Given the description of an element on the screen output the (x, y) to click on. 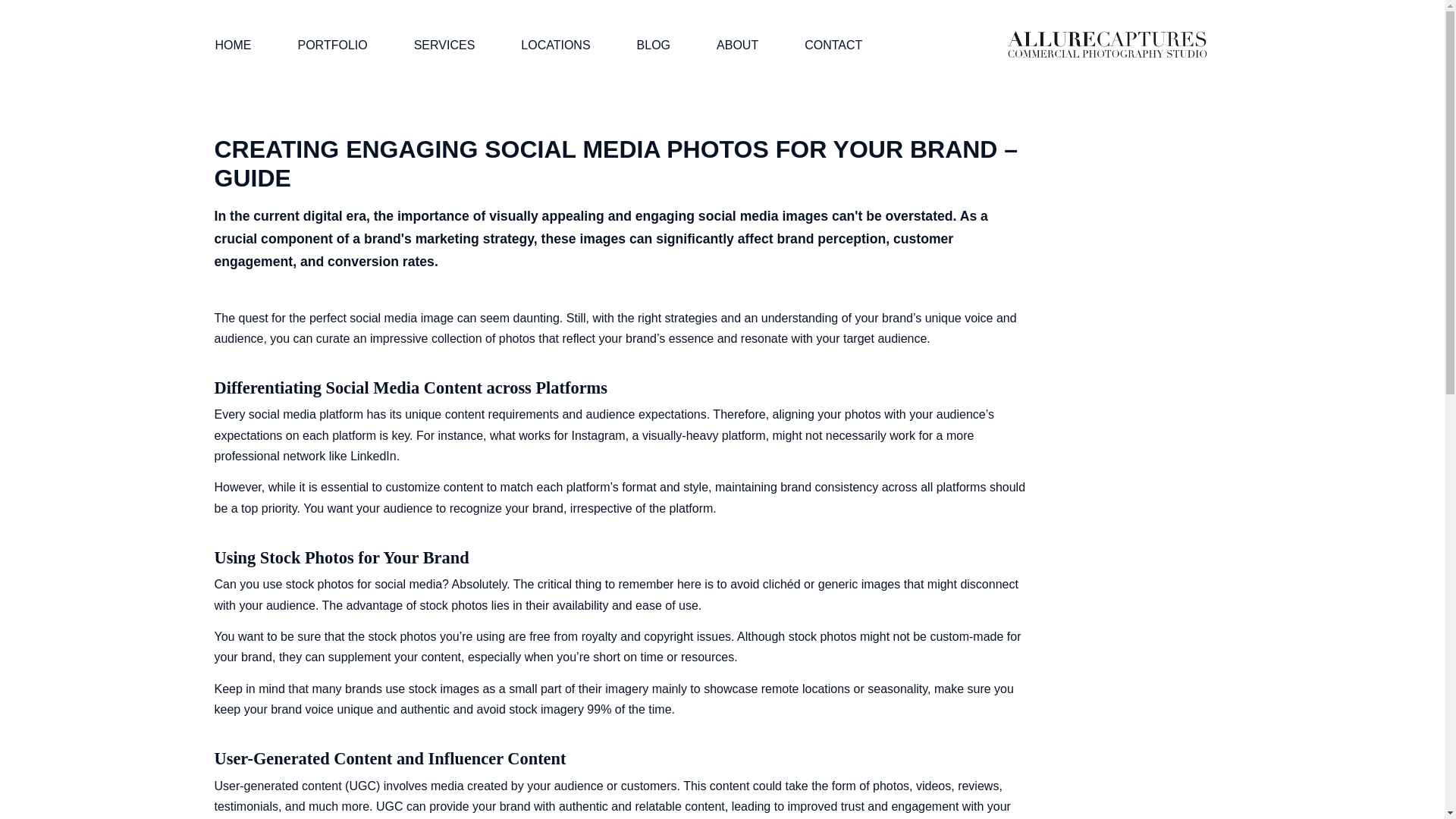
ABOUT (737, 45)
BLOG (653, 45)
LOCATIONS (555, 45)
CONTACT (833, 45)
PORTFOLIO (331, 45)
HOME (233, 45)
SERVICES (444, 45)
